Given the description of an element on the screen output the (x, y) to click on. 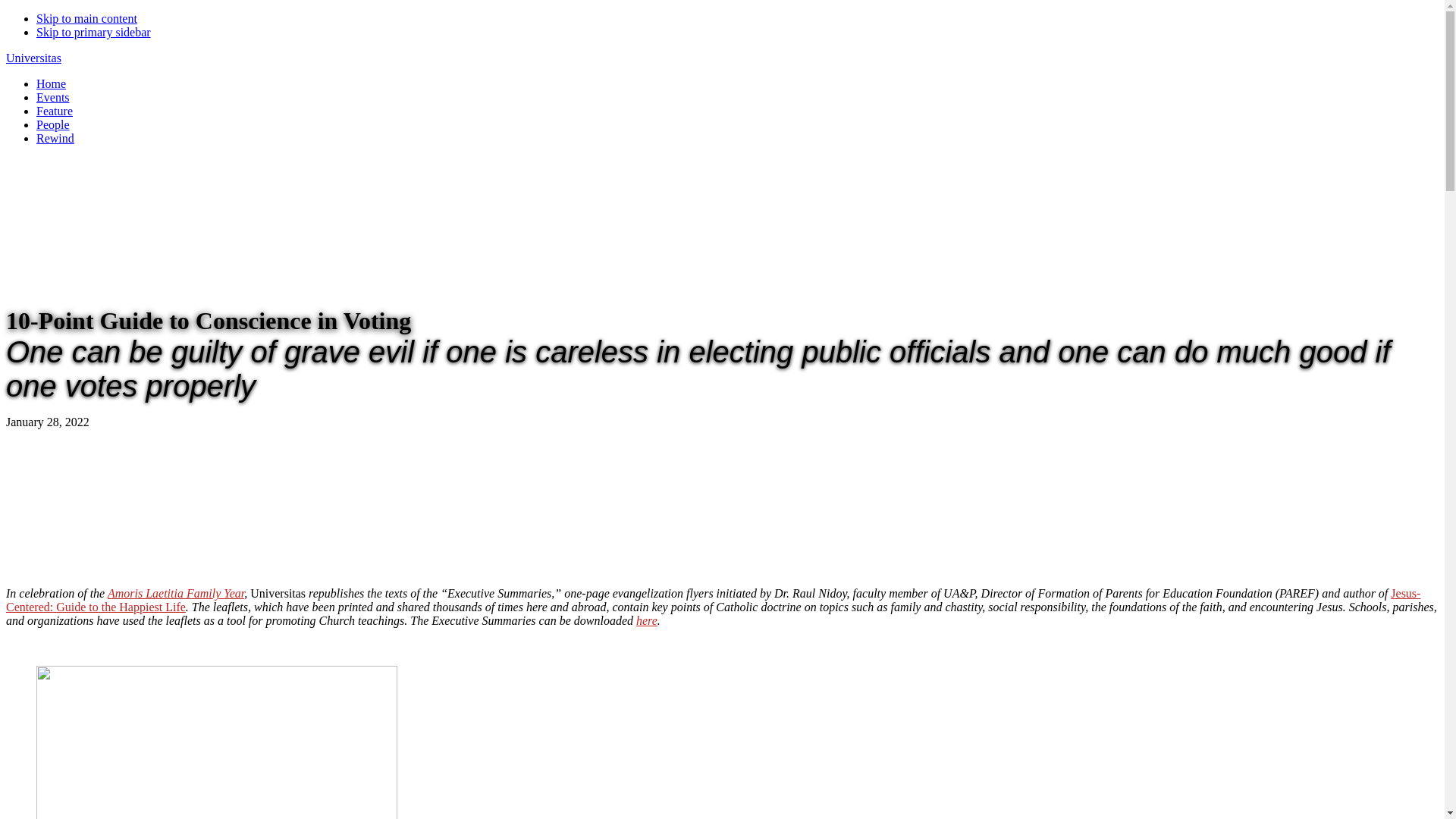
Skip to main content (86, 18)
Skip to primary sidebar (93, 31)
Jesus-Centered: Guide to the Happiest Life (713, 600)
Events (52, 97)
Rewind (55, 137)
Universitas (33, 57)
People (52, 124)
Amoris Laetitia Family Year (175, 593)
Home (50, 83)
Feature (54, 110)
